Given the description of an element on the screen output the (x, y) to click on. 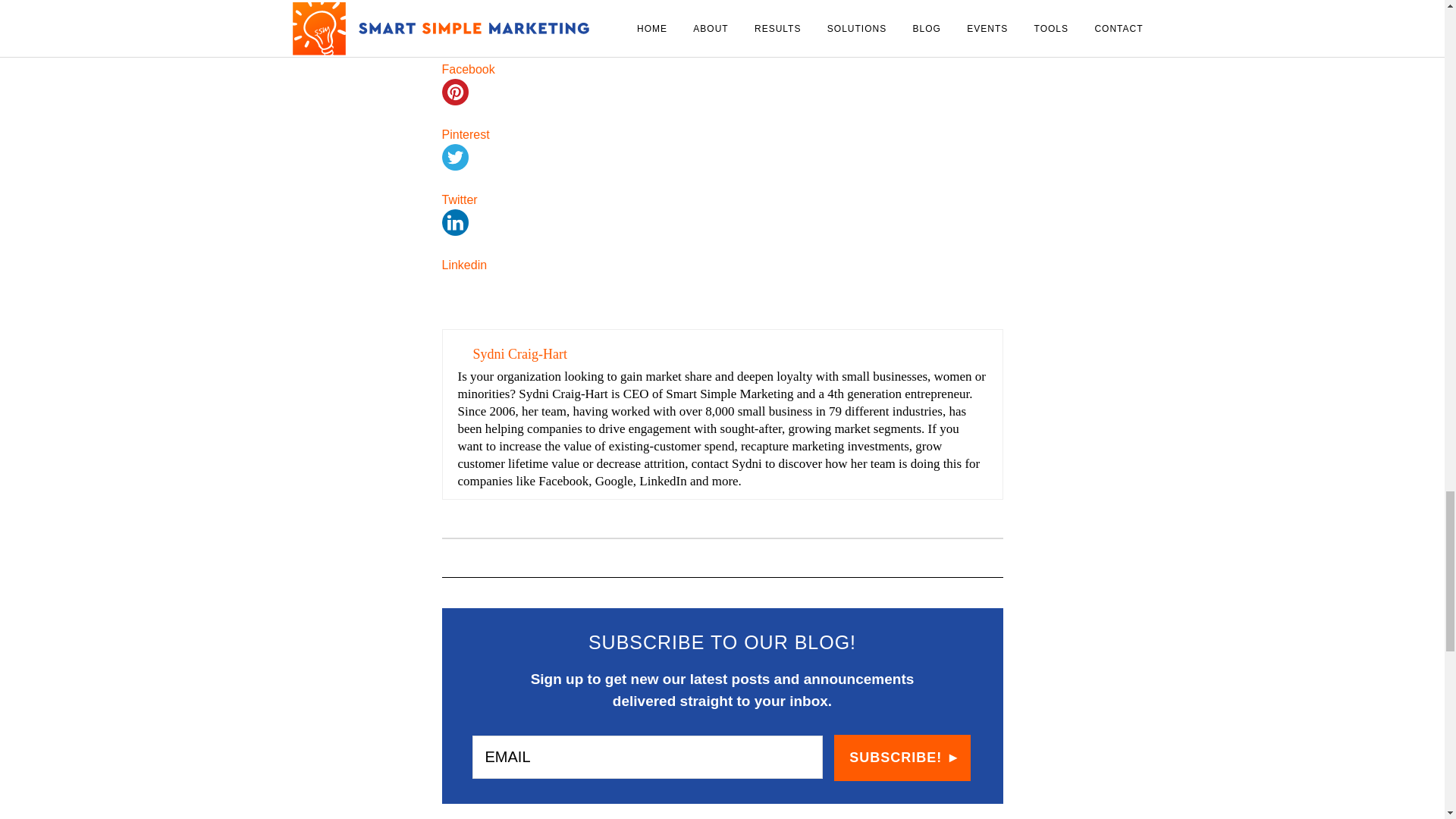
Facebook (722, 83)
Pinterest (722, 148)
Linkedin (722, 265)
Twitter (722, 214)
pinterest (454, 91)
Twitter (722, 199)
Linkedin (722, 257)
linkedin (454, 222)
twitter (454, 157)
Facebook (722, 69)
